Given the description of an element on the screen output the (x, y) to click on. 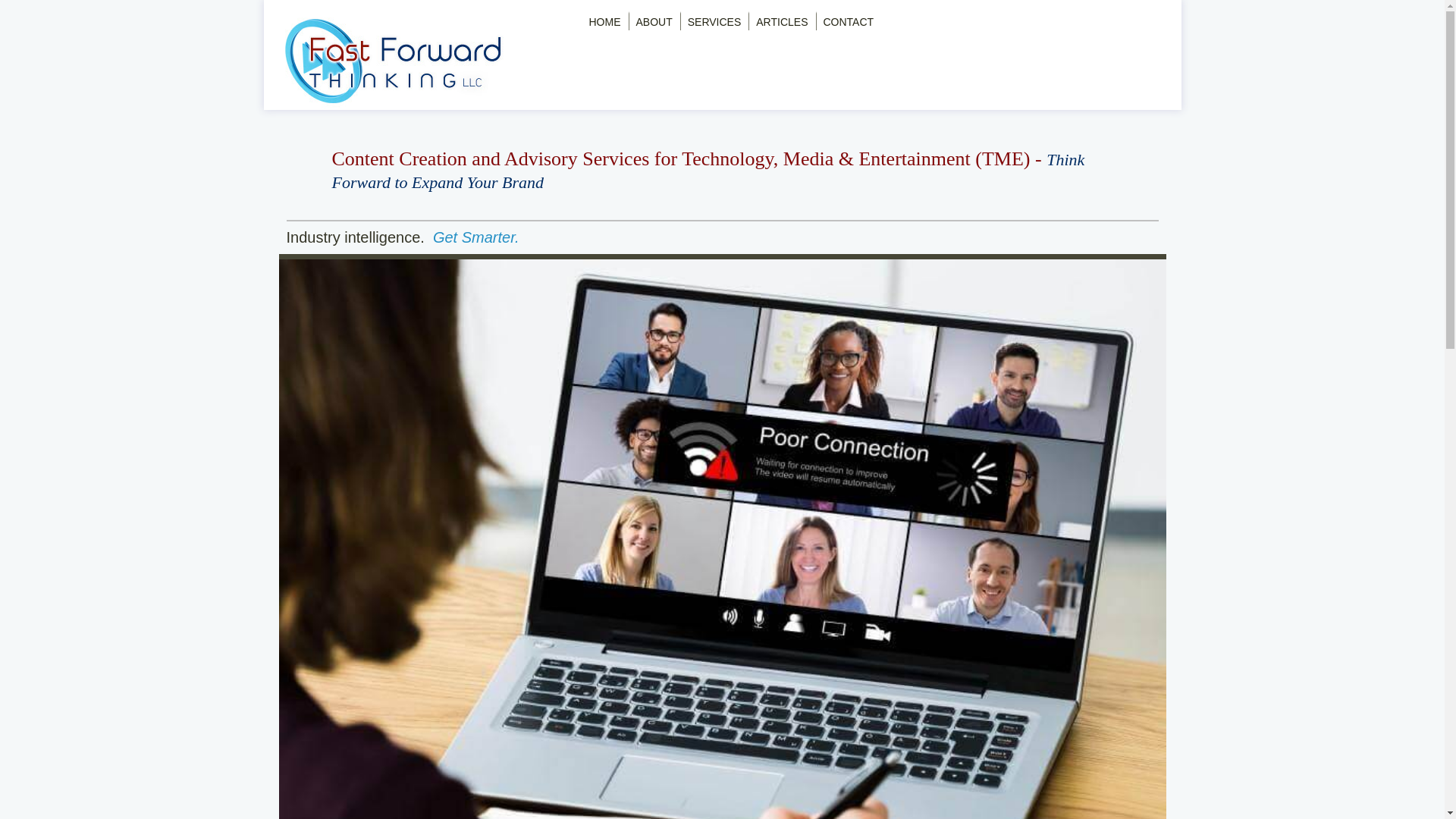
CONTACT (848, 21)
HOME (603, 21)
Get Smarter. (475, 237)
SERVICES (714, 21)
ABOUT (653, 21)
ARTICLES (781, 21)
